Given the description of an element on the screen output the (x, y) to click on. 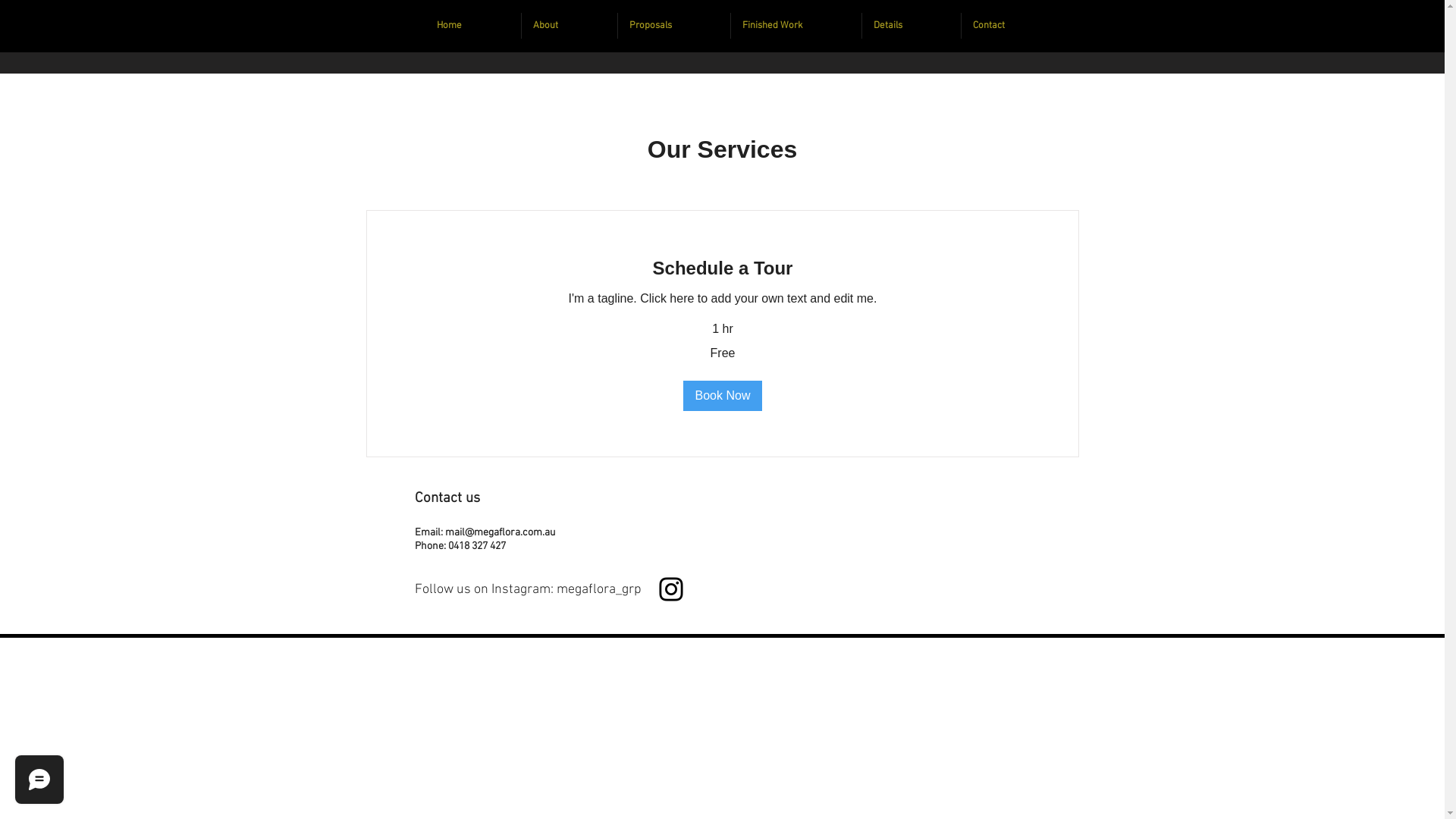
About Element type: text (569, 25)
Book Now Element type: text (722, 395)
Schedule a Tour Element type: text (722, 268)
Finished Work Element type: text (796, 25)
Home Element type: text (472, 25)
Proposals Element type: text (674, 25)
Details Element type: text (911, 25)
mail@megaflora.com.au Element type: text (499, 532)
Contact Element type: text (1012, 25)
